Given the description of an element on the screen output the (x, y) to click on. 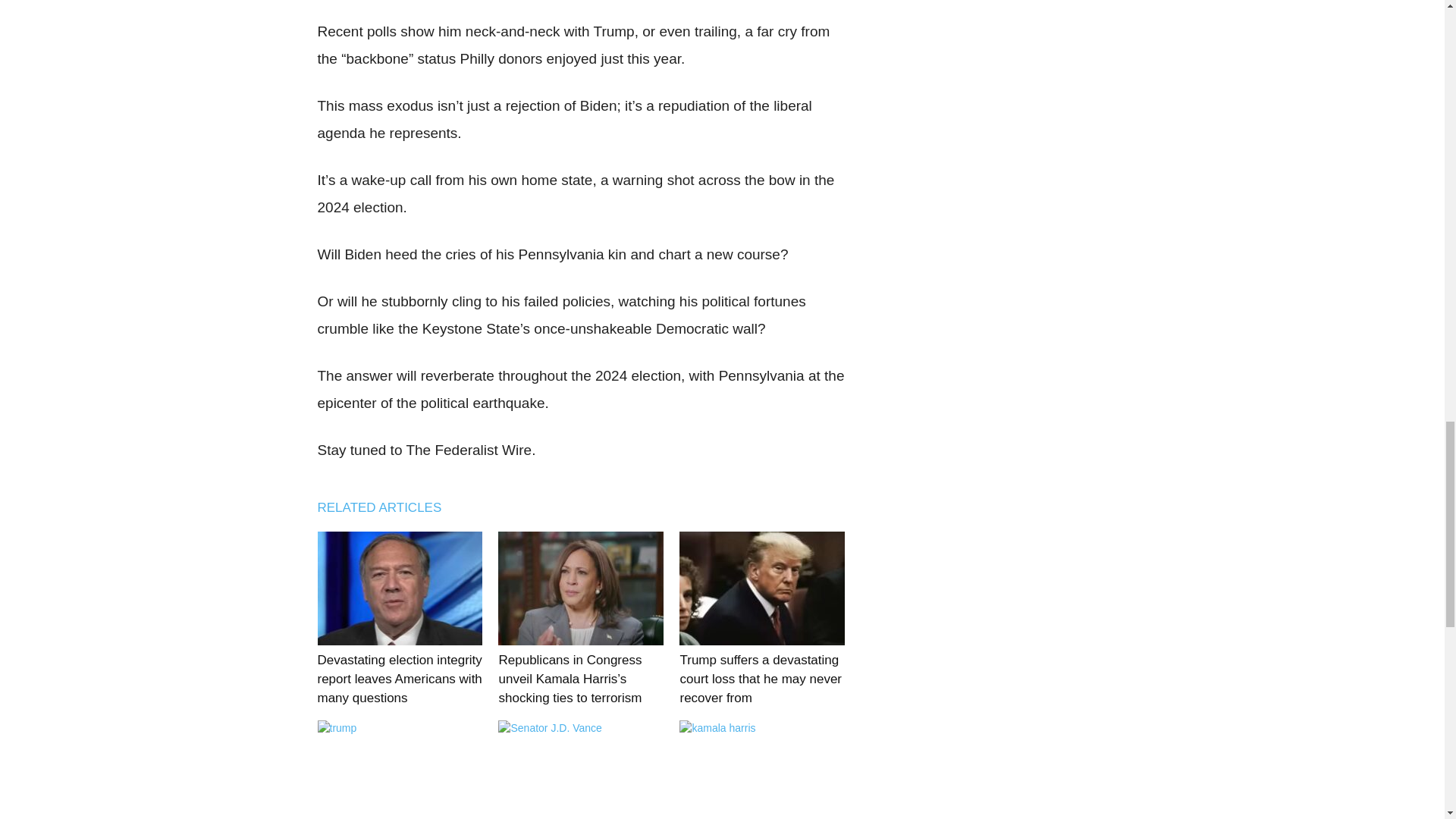
RELATED ARTICLES (387, 507)
